Given the description of an element on the screen output the (x, y) to click on. 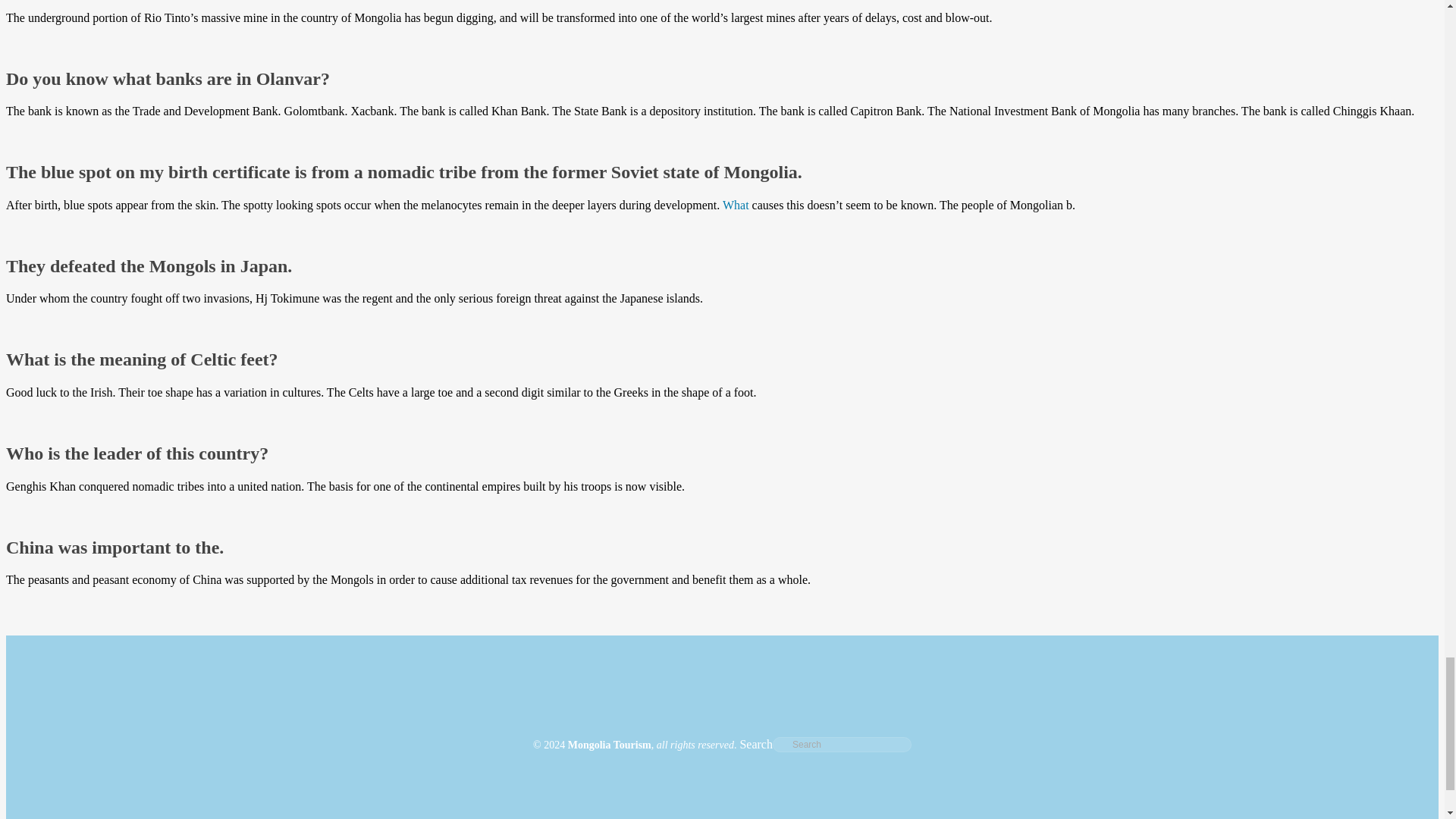
What (735, 205)
Mongolia Tourism (608, 745)
